Given the description of an element on the screen output the (x, y) to click on. 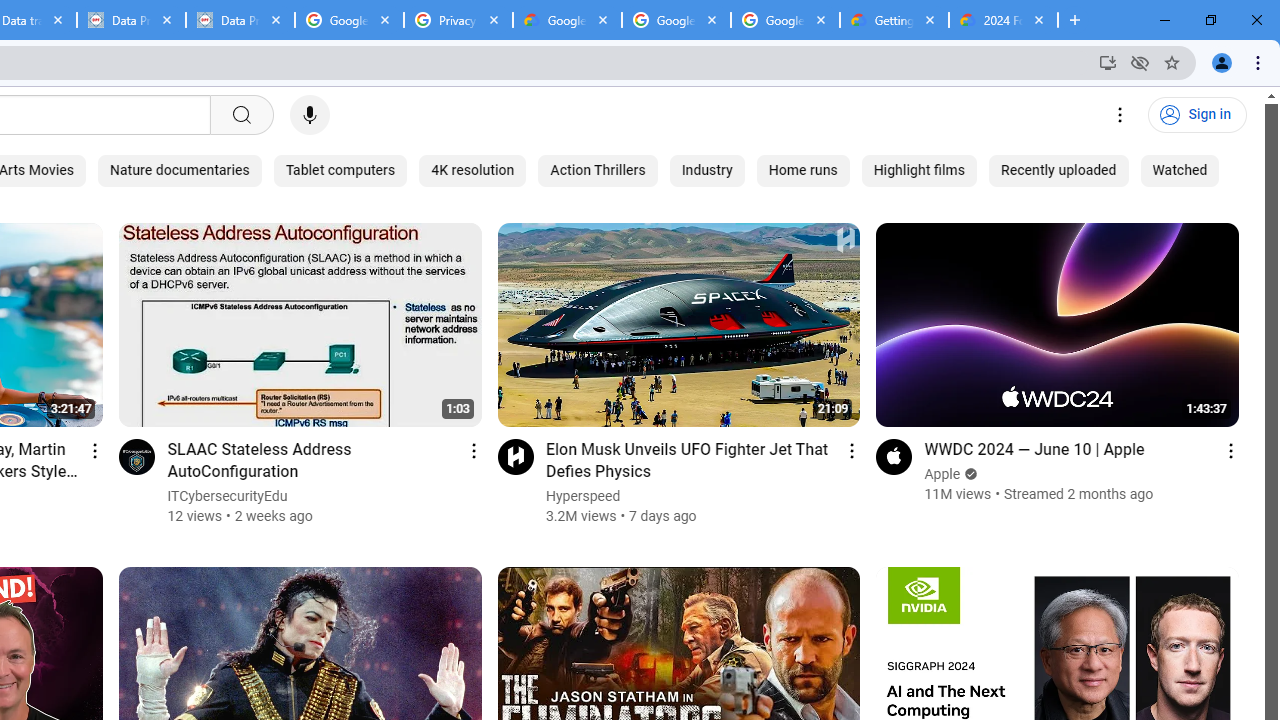
Apple (943, 474)
ITCybersecurityEdu (227, 496)
Search with your voice (309, 115)
Data Privacy Framework (130, 20)
Recently uploaded (1058, 170)
Tablet computers (340, 170)
Install YouTube (1107, 62)
